Given the description of an element on the screen output the (x, y) to click on. 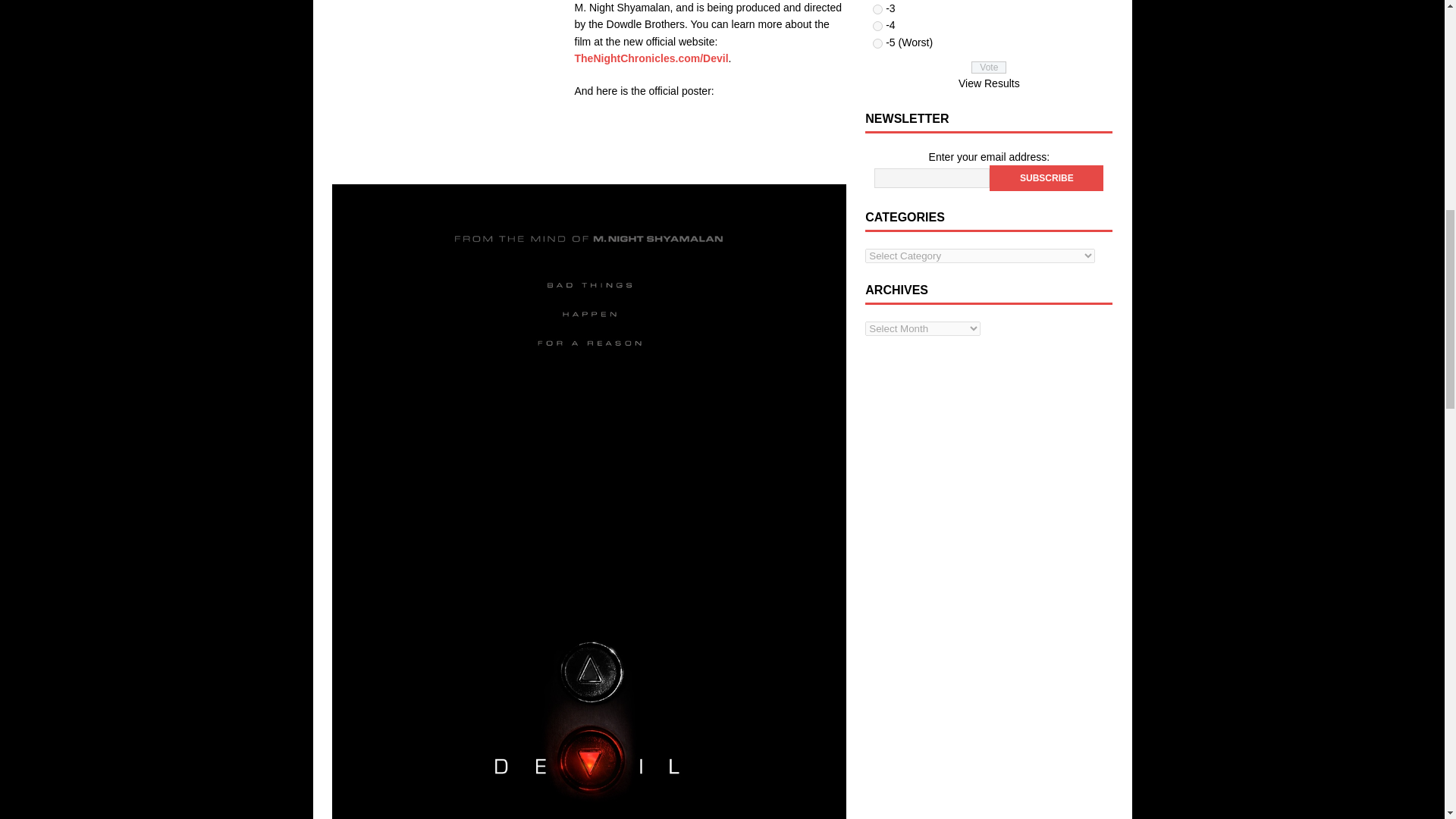
Subscribe (1046, 177)
112 (877, 42)
111 (877, 26)
110 (877, 9)
   Vote    (988, 67)
